Given the description of an element on the screen output the (x, y) to click on. 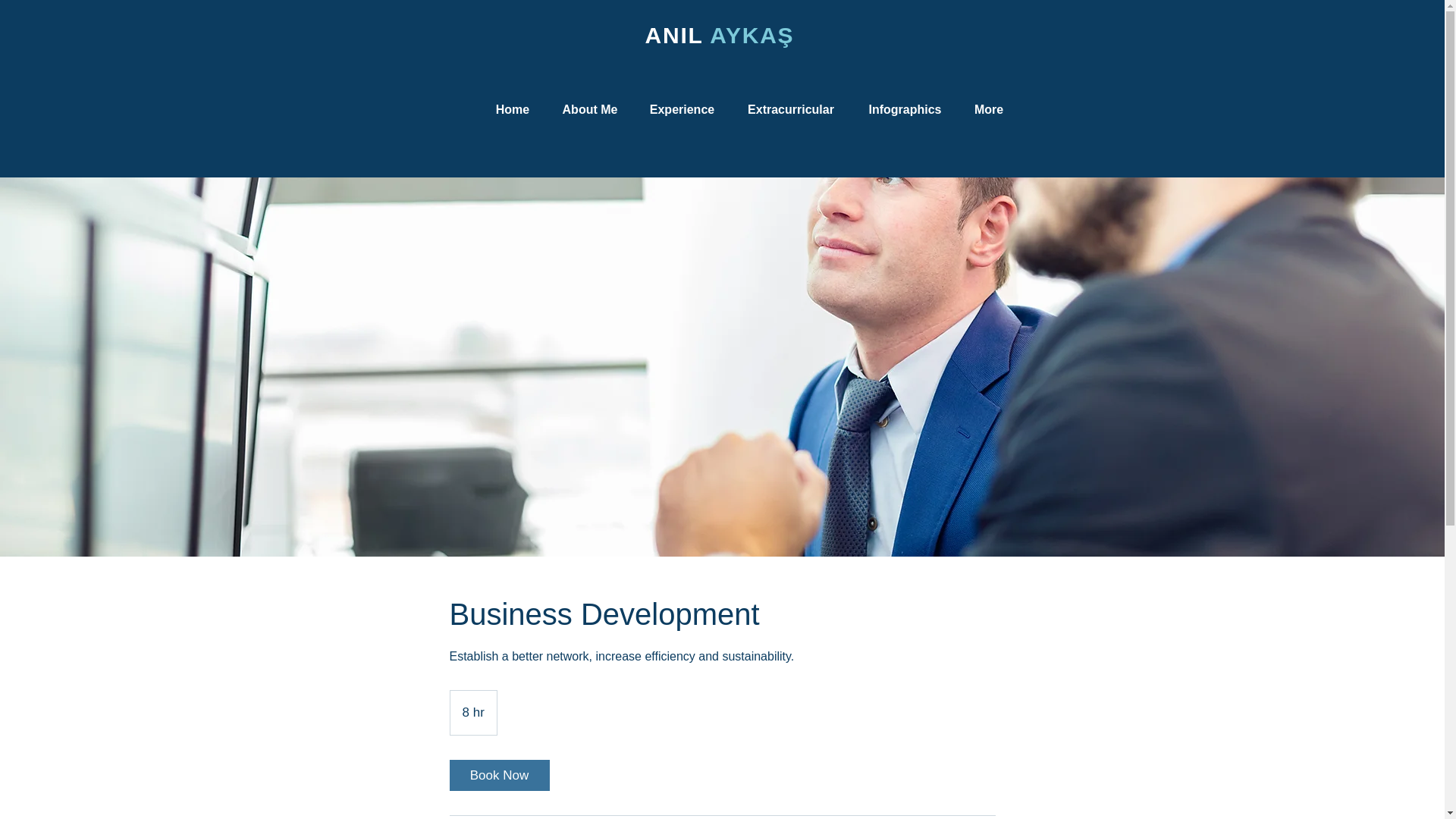
Home (511, 109)
Infographics (904, 109)
About Me (590, 109)
Book Now (498, 775)
Experience (681, 109)
Extracurricular (790, 109)
